Given the description of an element on the screen output the (x, y) to click on. 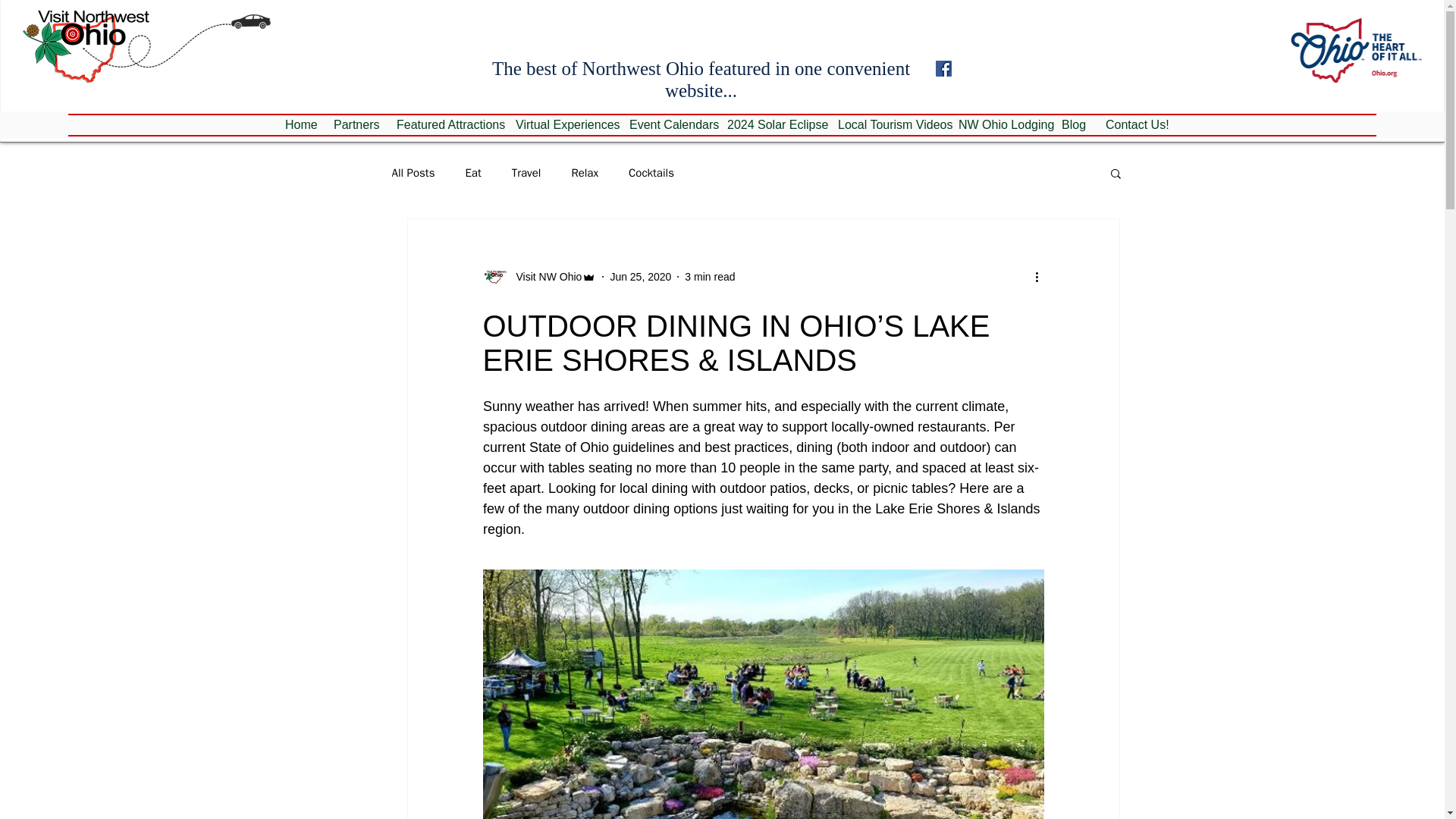
Local Tourism Videos (887, 125)
Event Calendars (666, 125)
All Posts (412, 172)
Virtual Experiences (560, 125)
Featured Attractions (444, 125)
Blog (1071, 125)
Home (297, 125)
Contact Us! (1132, 125)
Relax (584, 172)
Visit NW Ohio (543, 276)
